Given the description of an element on the screen output the (x, y) to click on. 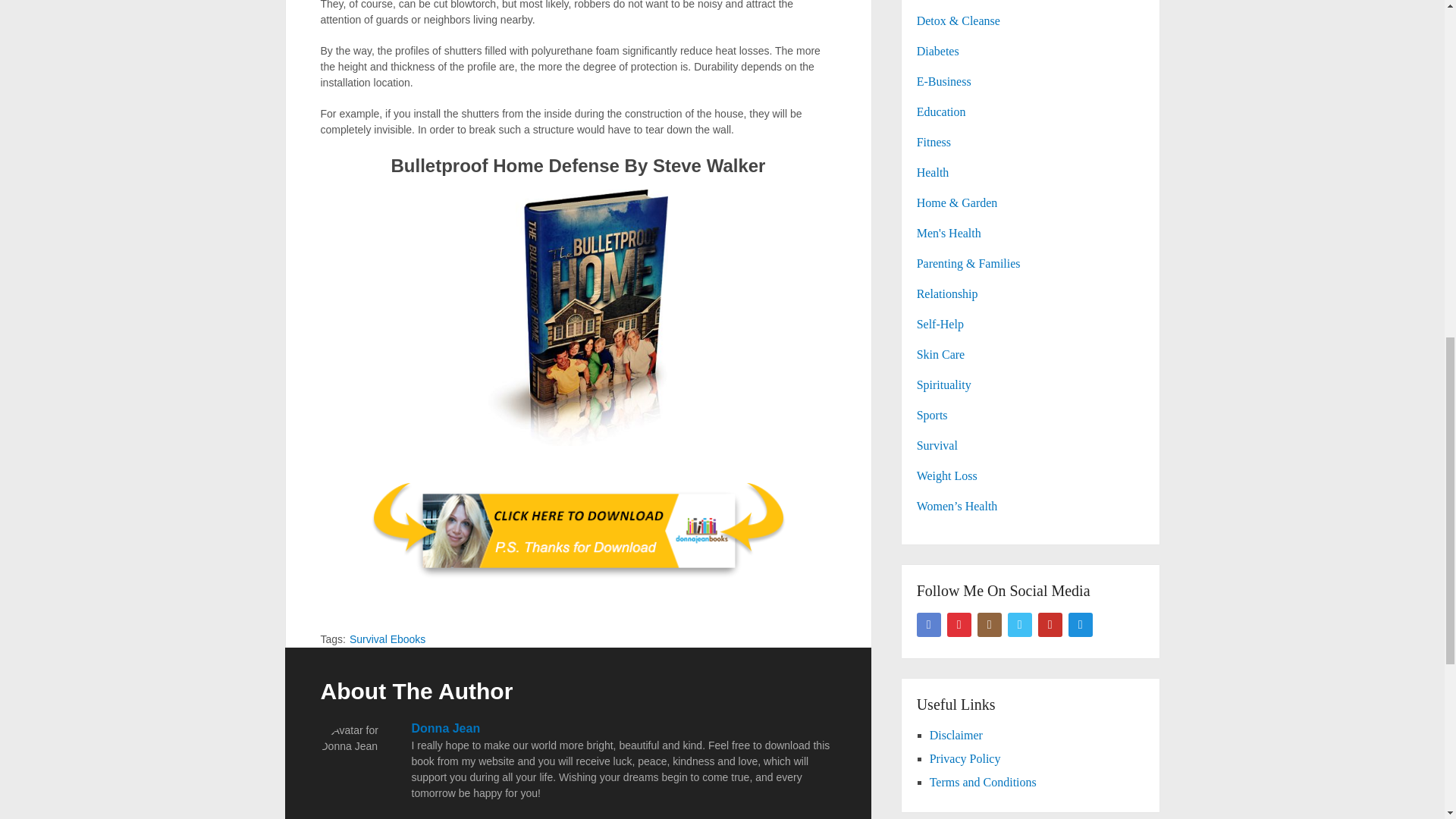
Donna Jean (445, 727)
Fitness (933, 141)
Gravatar for Donna Jean (358, 760)
E-Business (944, 81)
Health (933, 172)
Men's Health (949, 232)
Diabetes (938, 51)
Education (941, 111)
Survival Ebooks (387, 639)
